Given the description of an element on the screen output the (x, y) to click on. 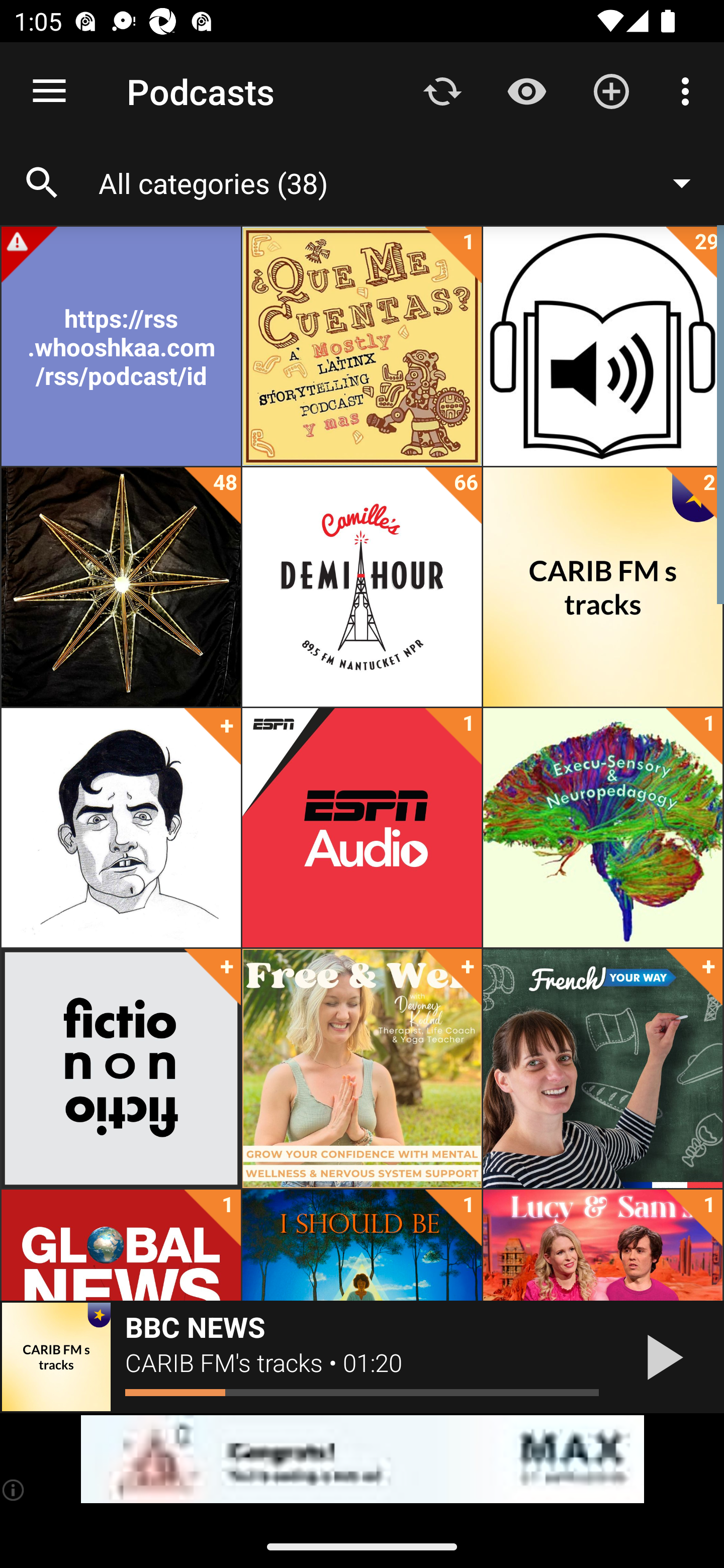
Open navigation sidebar (49, 91)
Update (442, 90)
Show / Hide played content (526, 90)
Add new Podcast (611, 90)
More options (688, 90)
Search (42, 183)
All categories (38) (404, 182)
https://rss.whooshkaa.com/rss/podcast/id/5884 (121, 346)
¿Qué Me Cuentas?: Latinx Storytelling 1 (361, 346)
Audiobooks 29 (602, 346)
Audiobooks 48 (121, 587)
Camille's Demi-Hour - NANTUCKET NPR 66 (361, 587)
CARIB FM's tracks 2 (602, 587)
Cooking Issues with Dave Arnold + (121, 827)
ESPN Audio 1 (361, 827)
fiction/non/fiction + (121, 1068)
Play / Pause (660, 1356)
app-monetization (362, 1459)
(i) (14, 1489)
